Given the description of an element on the screen output the (x, y) to click on. 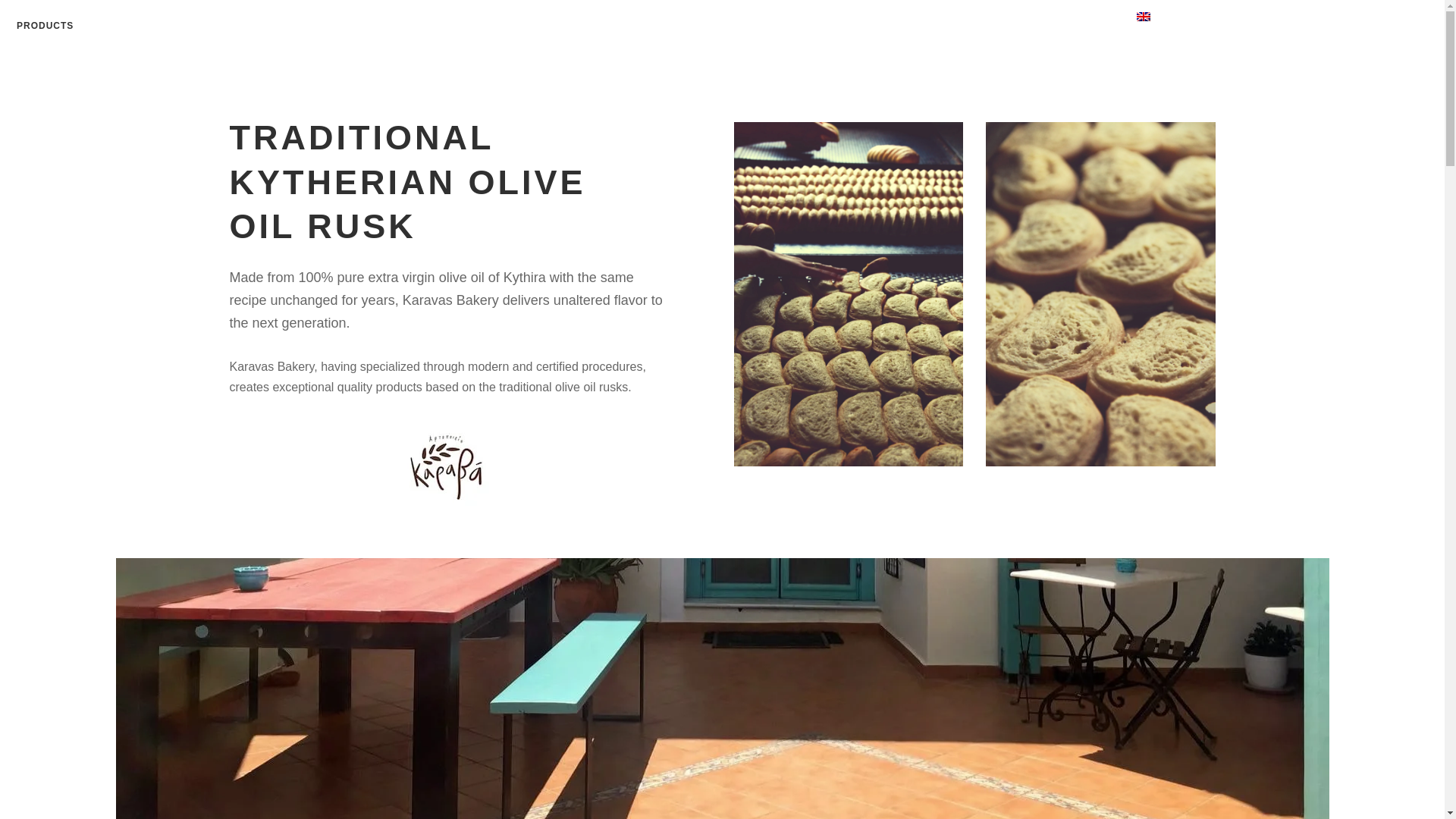
PRODUCTS (45, 25)
LOGO KARAVAS GR copy (446, 467)
